Given the description of an element on the screen output the (x, y) to click on. 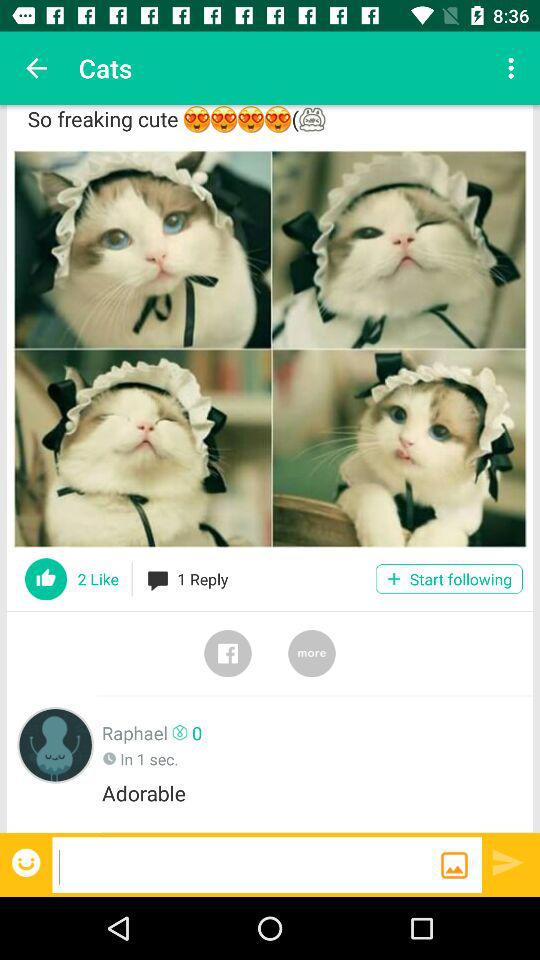
to share using facebook (228, 653)
